Given the description of an element on the screen output the (x, y) to click on. 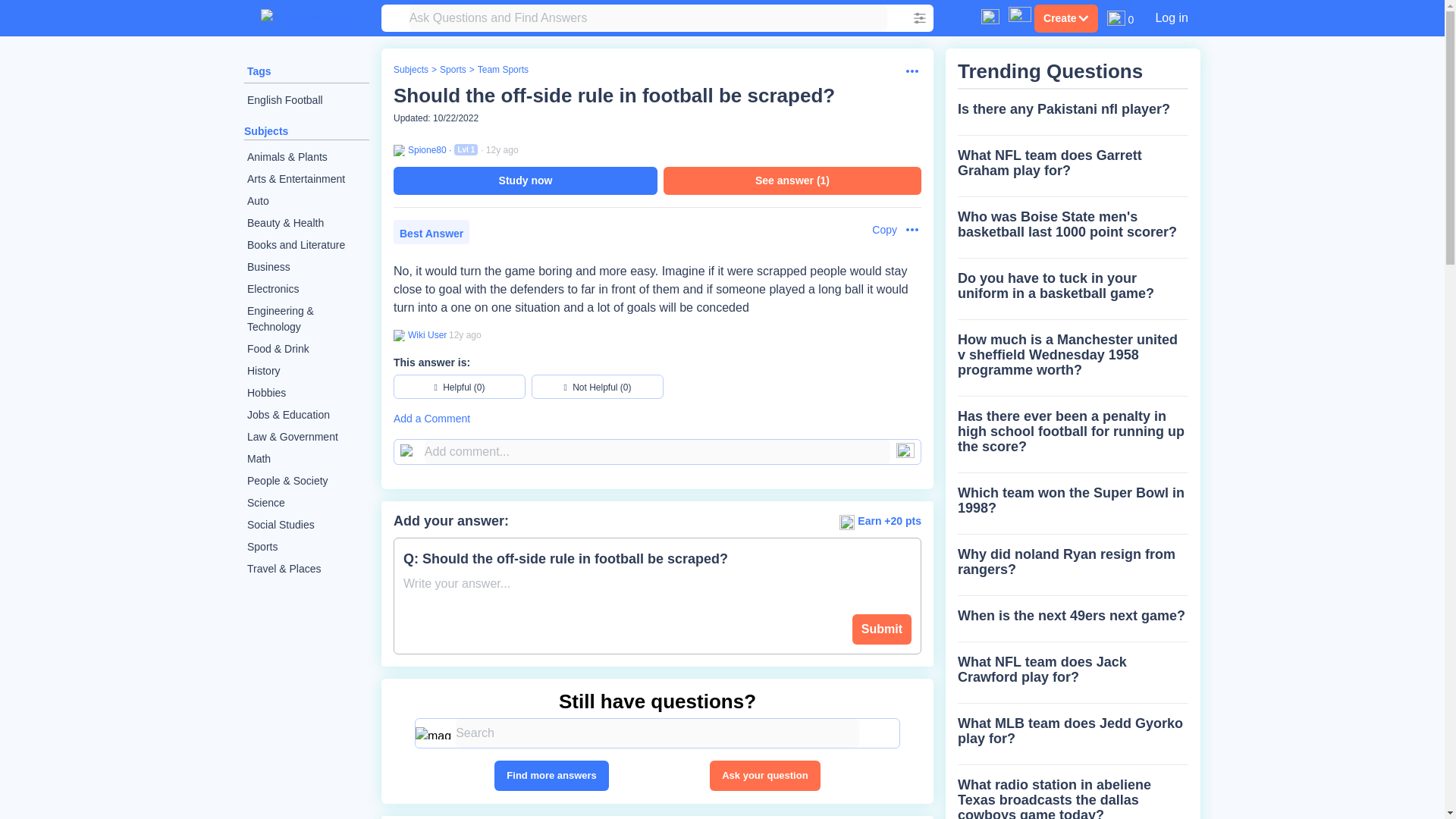
Log in (1170, 17)
Copy (876, 229)
Subjects (266, 131)
English Football (306, 100)
Sports (306, 546)
Books and Literature (306, 245)
Team Sports (502, 69)
Wiki User (425, 335)
Tags (258, 70)
2012-02-14 11:20:09 (502, 149)
